Given the description of an element on the screen output the (x, y) to click on. 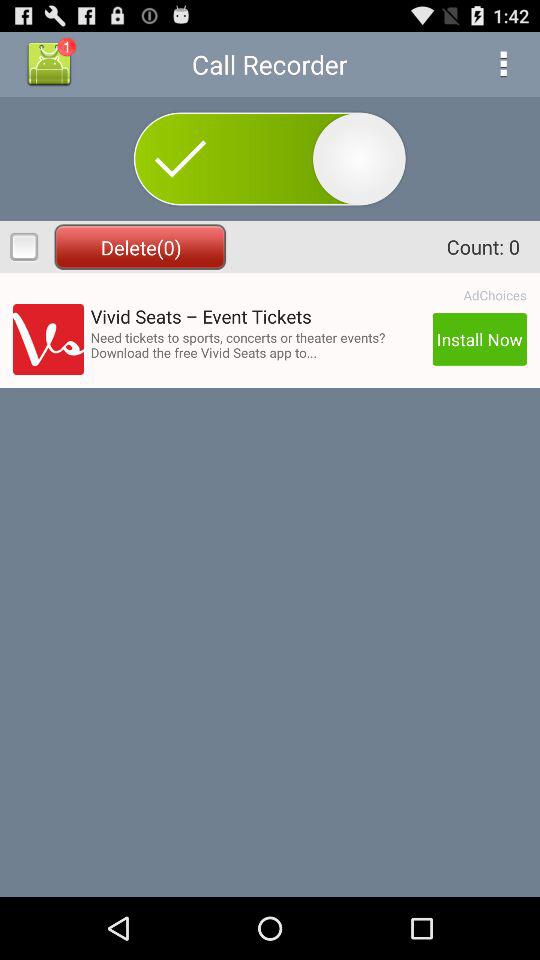
turn off app below count: 0 (494, 295)
